Given the description of an element on the screen output the (x, y) to click on. 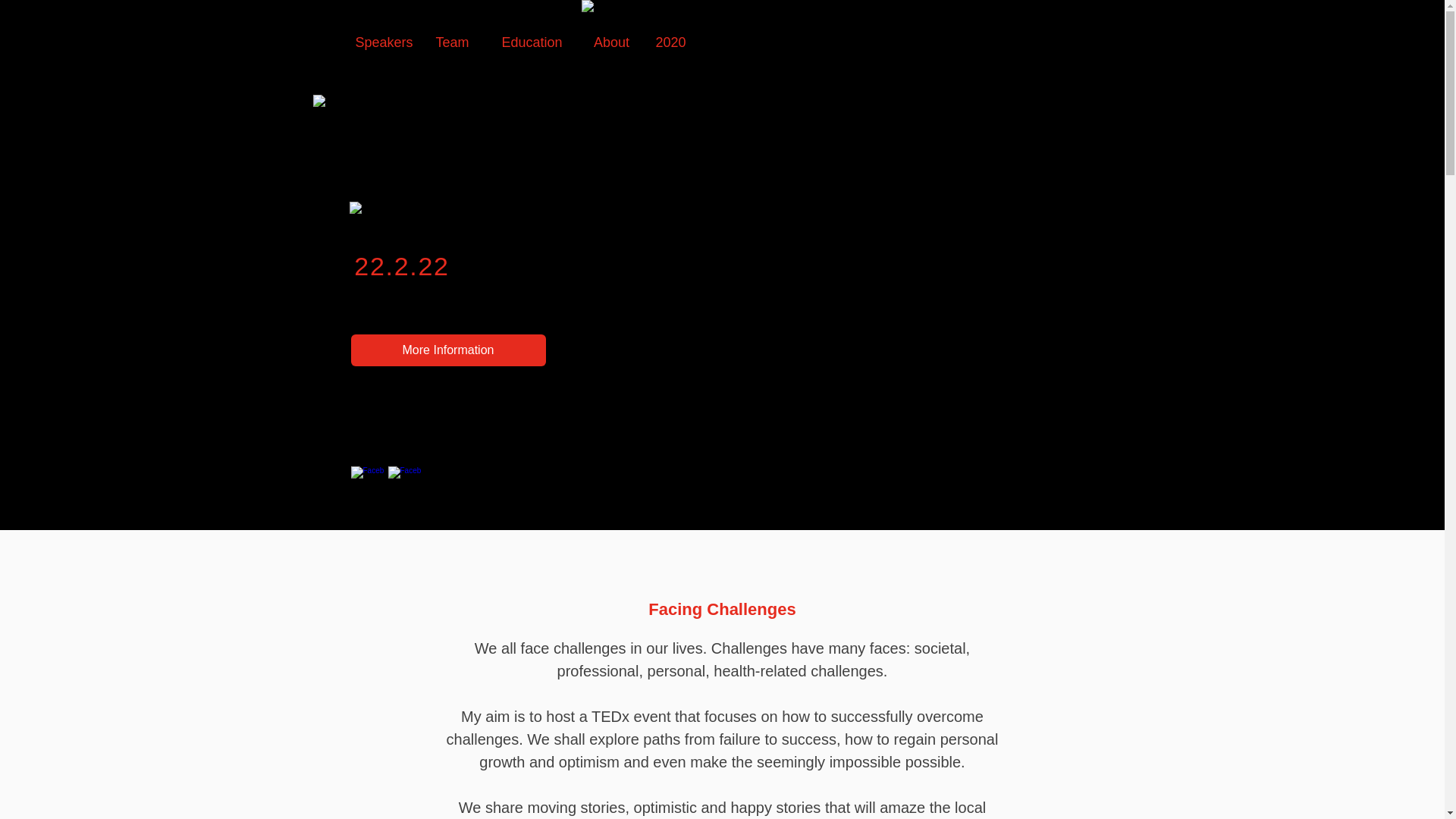
More Information (447, 350)
Team (451, 42)
2020 (670, 42)
Speakers (383, 42)
About (610, 42)
Education (531, 42)
